Given the description of an element on the screen output the (x, y) to click on. 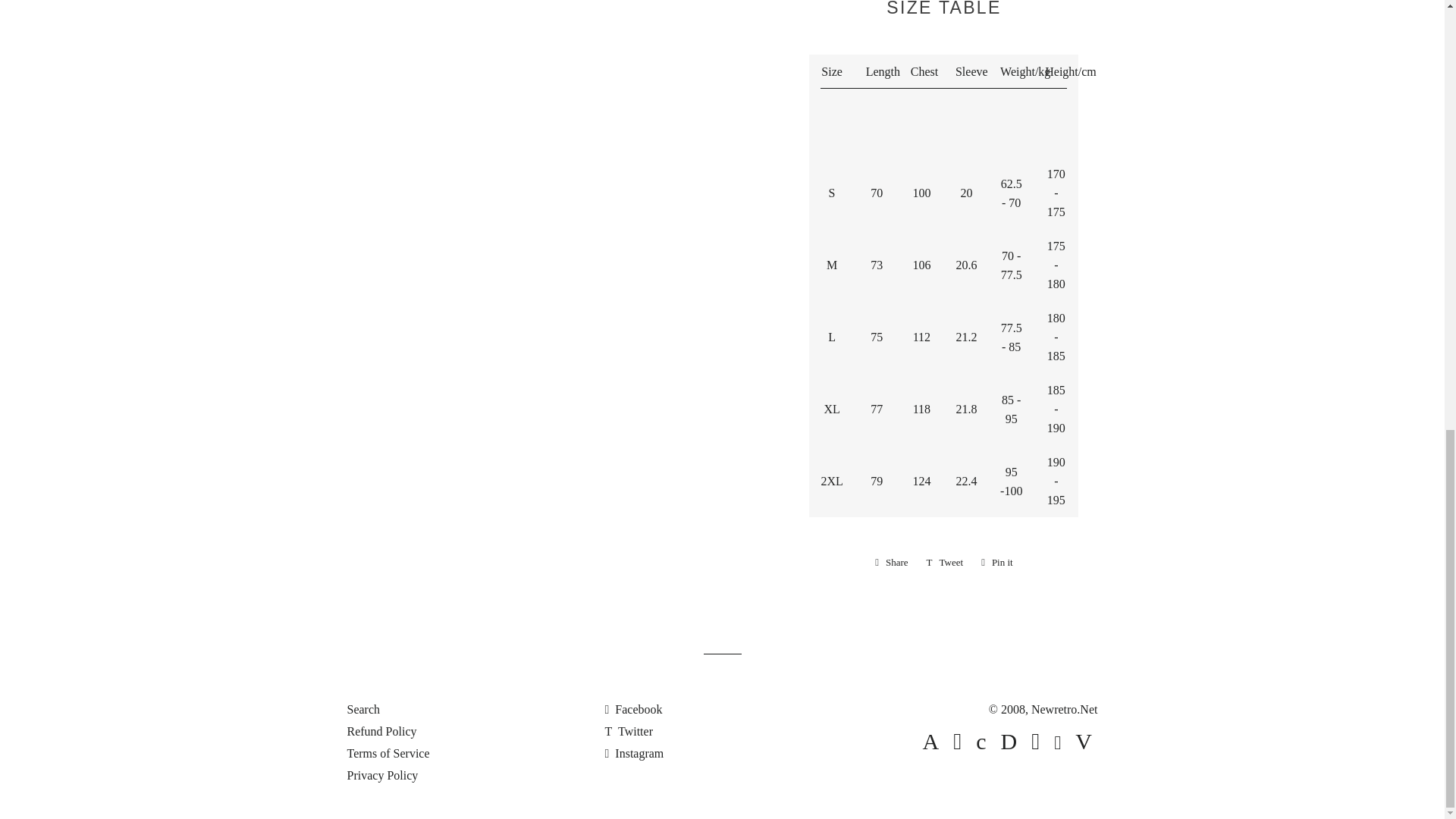
Share on Facebook (891, 562)
Pin on Pinterest (997, 562)
Newretro.Net on Facebook (633, 708)
Newretro.Net on Twitter (628, 730)
Tweet on Twitter (944, 562)
Newretro.Net on Instagram (633, 753)
